Given the description of an element on the screen output the (x, y) to click on. 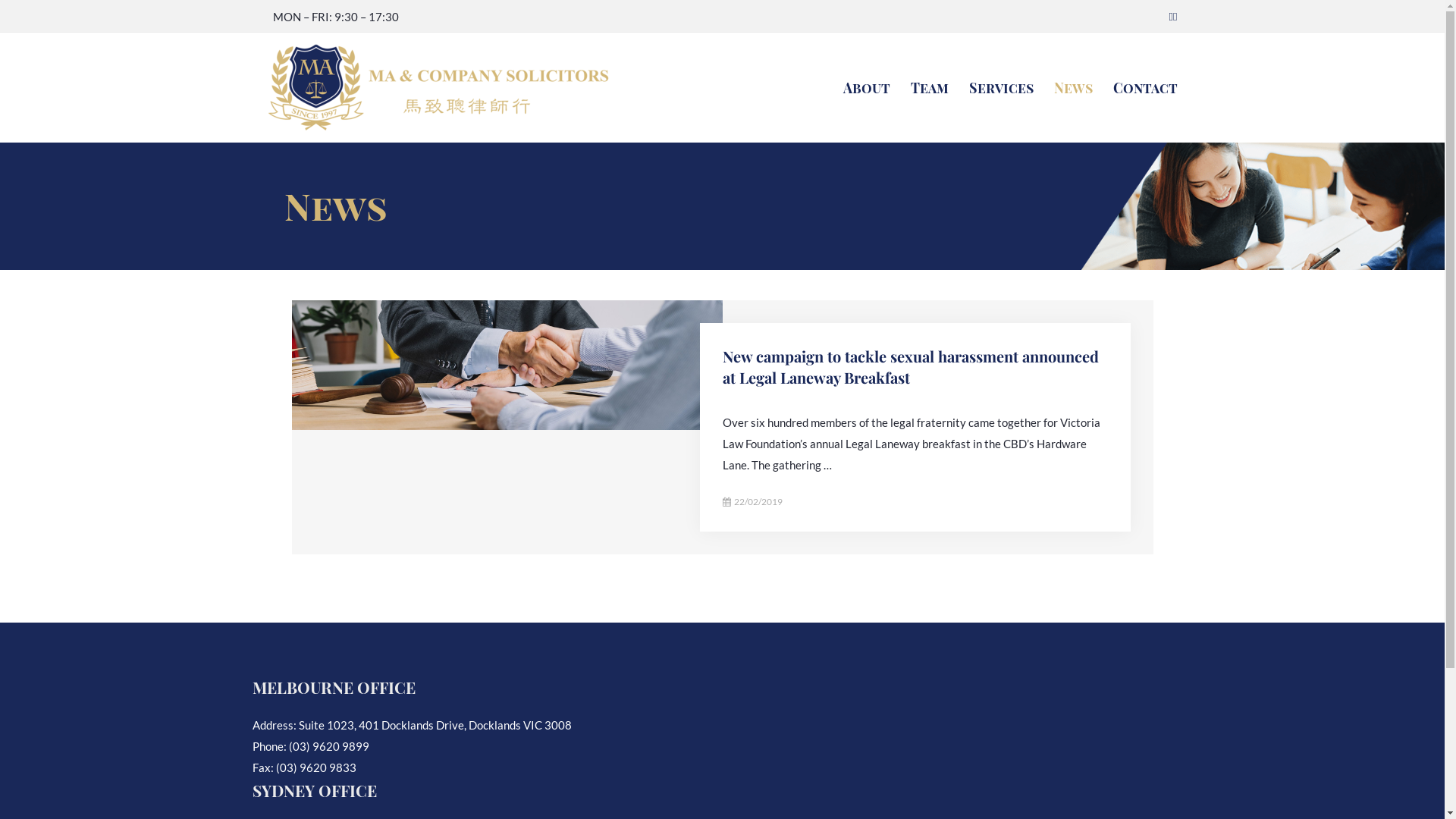
Services Element type: text (989, 87)
News Element type: text (1062, 87)
About Element type: text (855, 87)
Team Element type: text (919, 87)
Contact Element type: text (1134, 87)
